Given the description of an element on the screen output the (x, y) to click on. 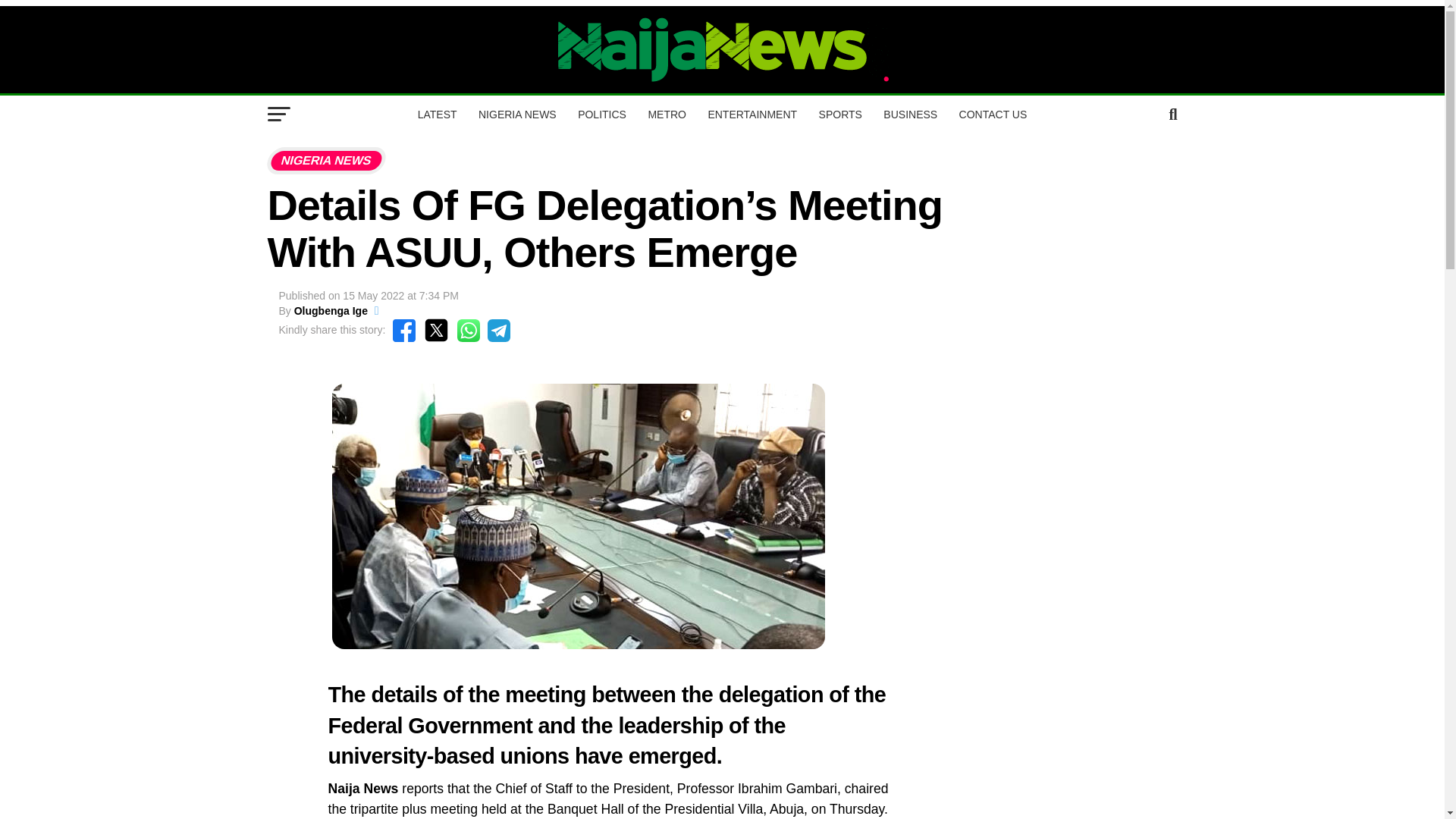
METRO (667, 114)
ENTERTAINMENT (752, 114)
SPORTS (839, 114)
Posts by Olugbenga Ige (331, 310)
POLITICS (601, 114)
NIGERIA NEWS (517, 114)
BUSINESS (910, 114)
Olugbenga Ige (331, 310)
LATEST (437, 114)
CONTACT US (993, 114)
